Given the description of an element on the screen output the (x, y) to click on. 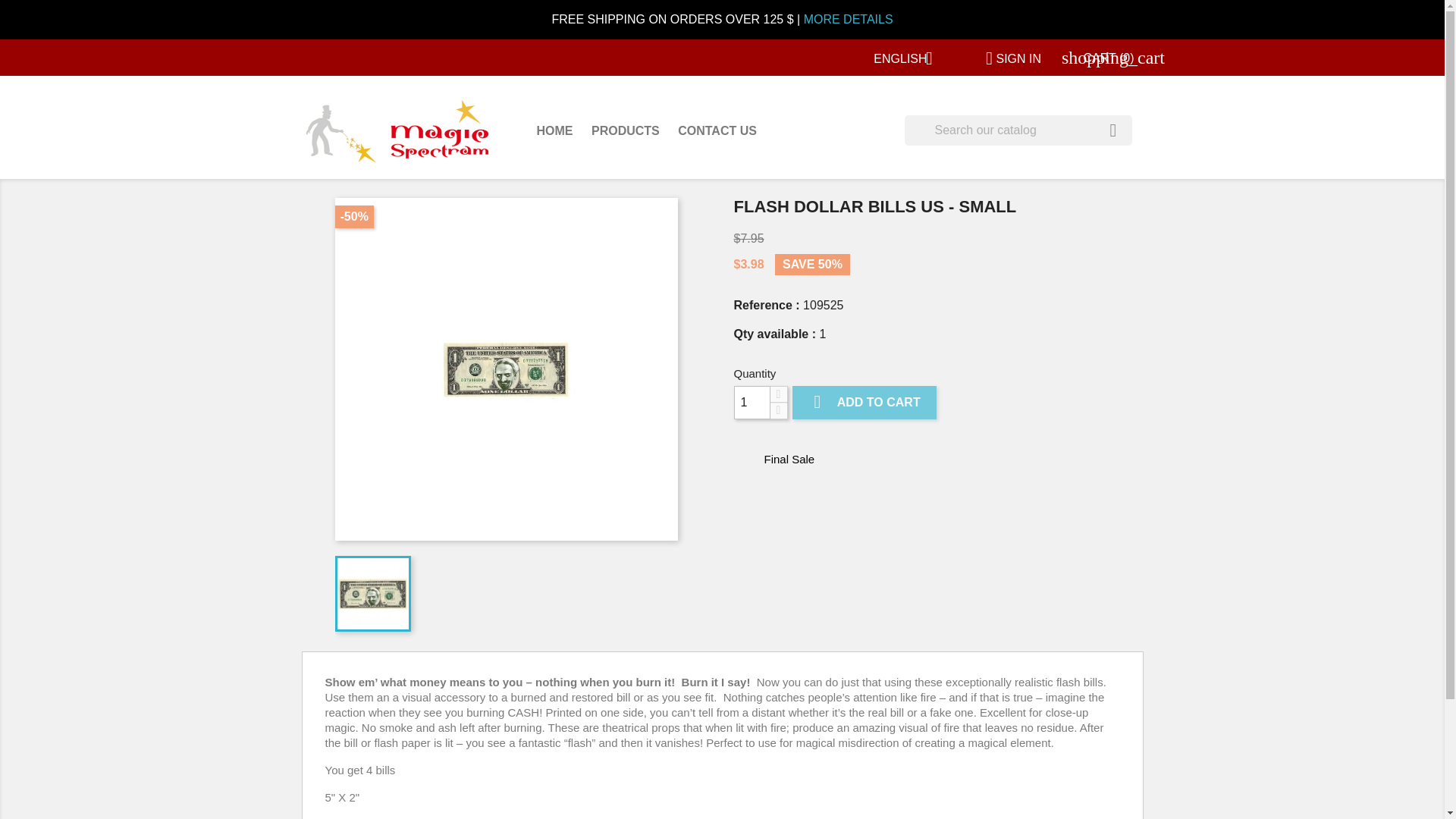
HOME (554, 132)
1 (751, 402)
Flash Dollar Bills US small (372, 593)
PRODUCTS (624, 132)
Flash Dollar Bills US small (506, 369)
CONTACT US (716, 132)
MORE DETAILS (848, 19)
Log in to your customer account (1007, 58)
